Given the description of an element on the screen output the (x, y) to click on. 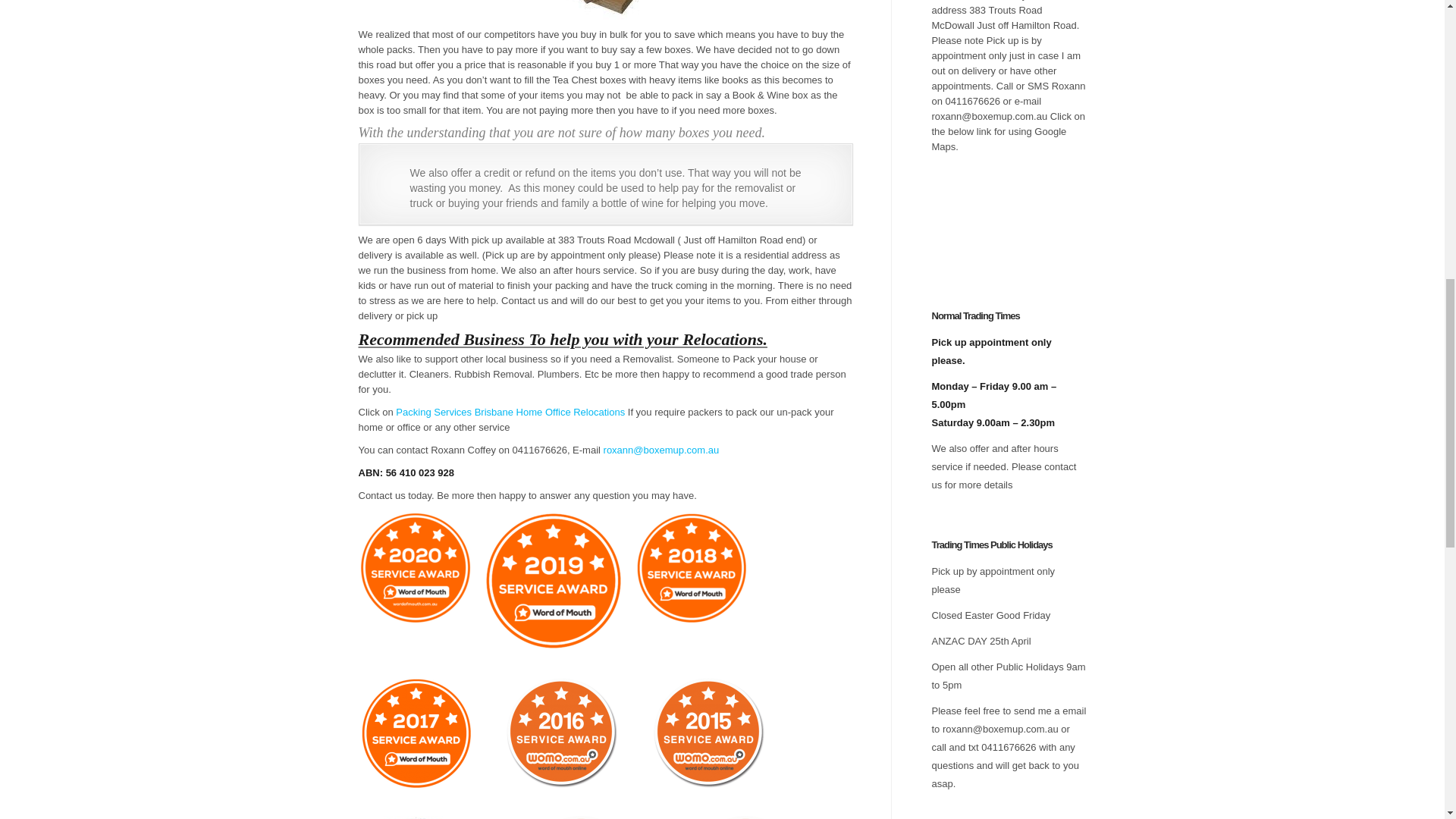
Packing Services Brisbane Home Office Relocations (511, 411)
BOX EM UP Relocation Supplies Brisbane (604, 9)
Packing Services Brisbane Home Office Relocations (511, 411)
